Given the description of an element on the screen output the (x, y) to click on. 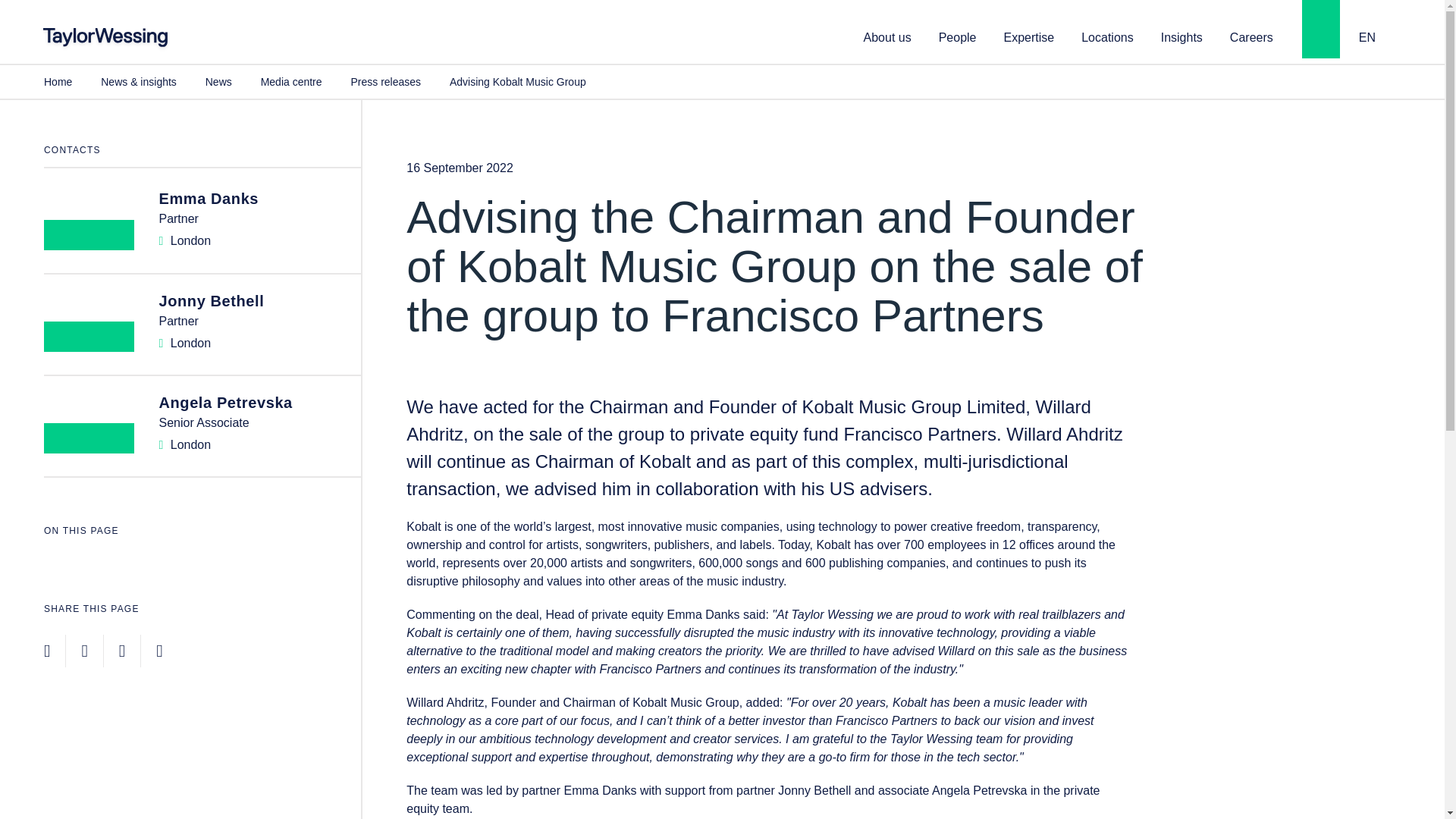
Xing (158, 651)
About us (887, 35)
Facebook (84, 651)
Expertise (1029, 35)
People (957, 35)
Linkedin (46, 651)
